Given the description of an element on the screen output the (x, y) to click on. 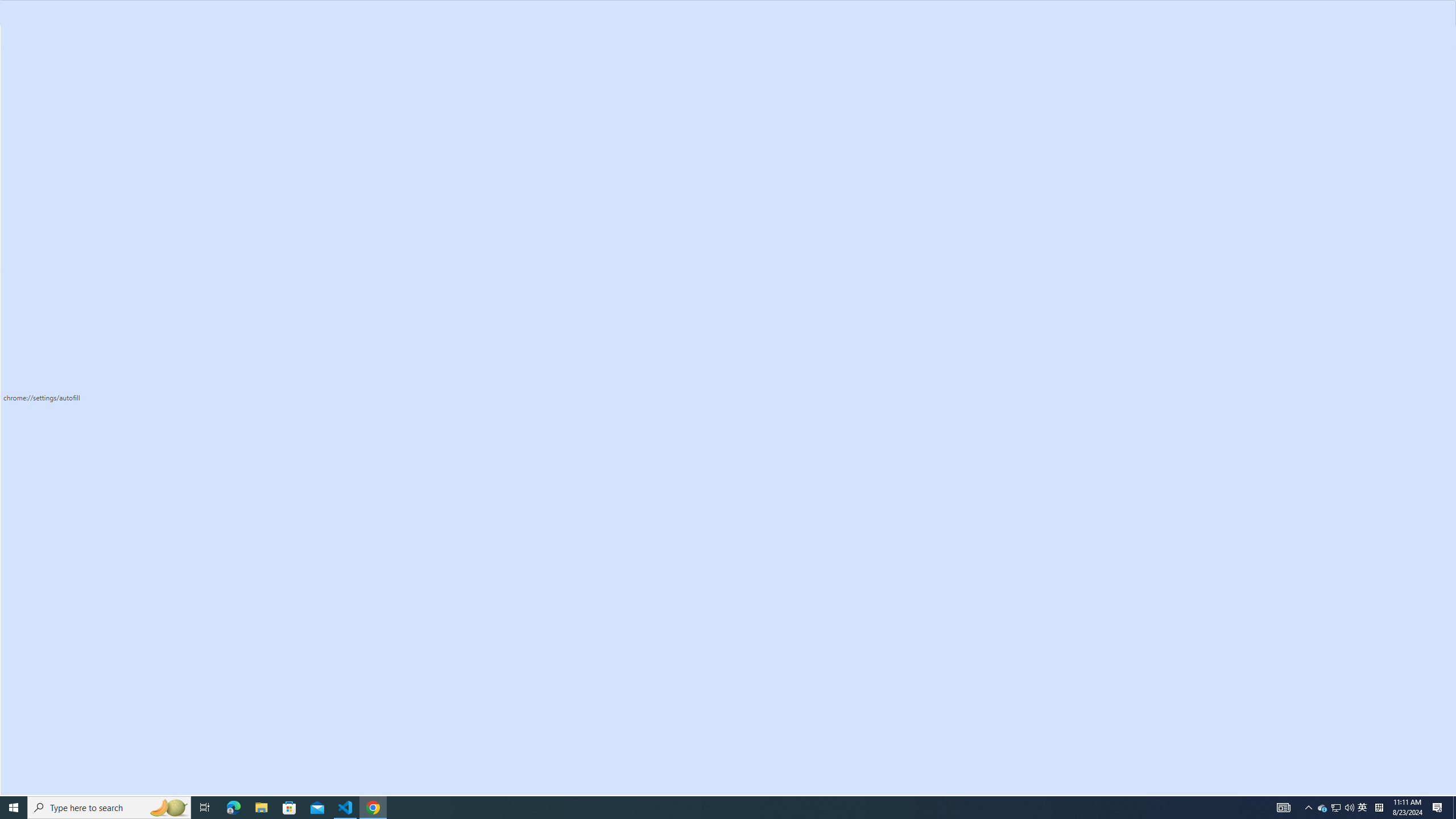
About Chrome (70, 434)
Privacy and security (70, 142)
Appearance (70, 187)
Autofill and passwords (70, 119)
AutomationID: menu (71, 265)
